Given the description of an element on the screen output the (x, y) to click on. 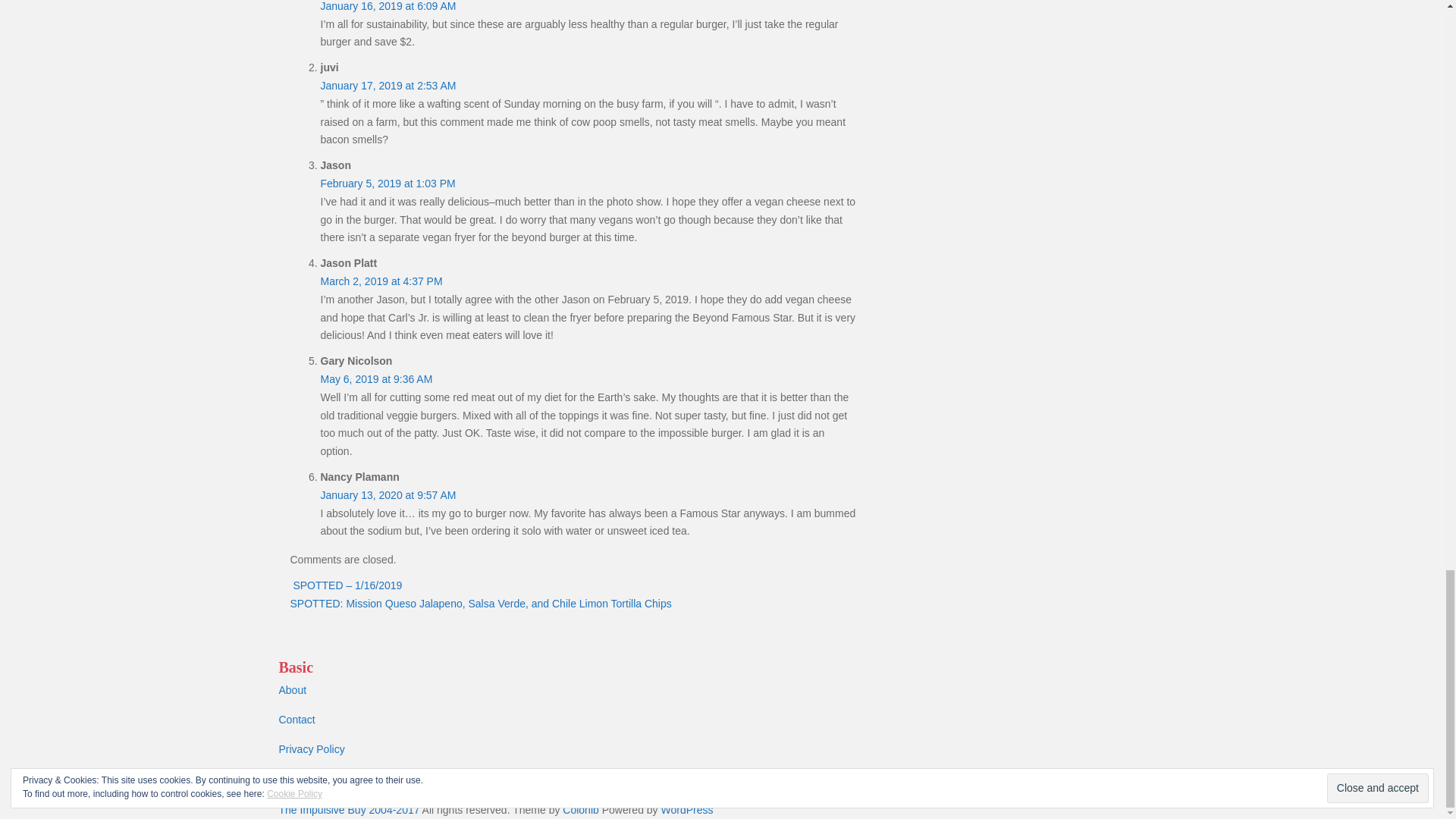
January 17, 2019 at 2:53 AM (387, 85)
May 6, 2019 at 9:36 AM (376, 378)
January 13, 2020 at 9:57 AM (387, 494)
February 5, 2019 at 1:03 PM (387, 183)
January 16, 2019 at 6:09 AM (387, 6)
March 2, 2019 at 4:37 PM (381, 281)
